Given the description of an element on the screen output the (x, y) to click on. 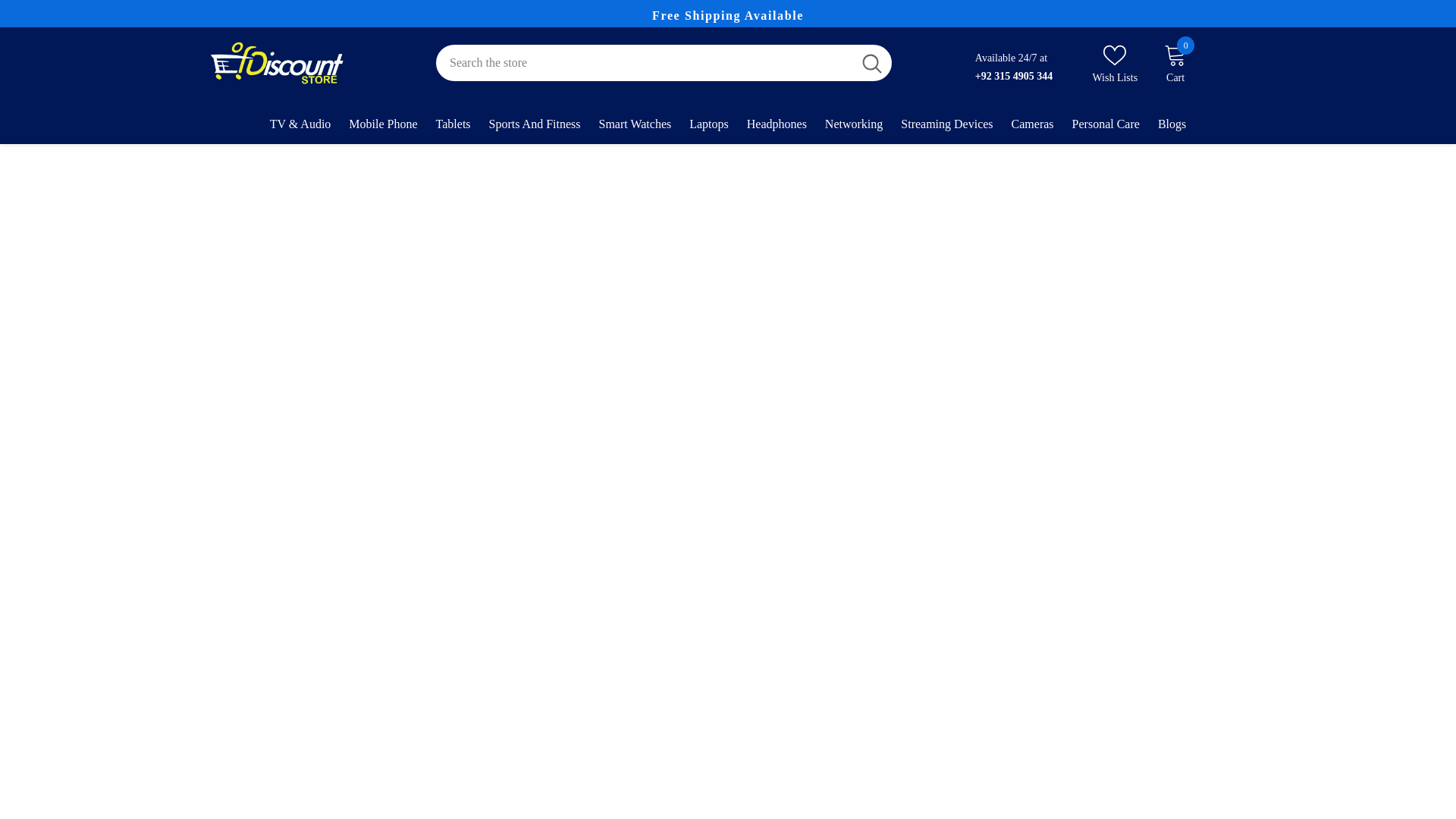
Cameras (1032, 129)
Wish Lists (1114, 62)
Laptops (708, 130)
Sports And Fitness (534, 131)
Free Shipping Available (727, 15)
Streaming Devices (946, 129)
Personal Care (1105, 129)
Blogs (1171, 129)
Smart Watches (634, 130)
Mobile Phone (1174, 62)
Tablets (382, 131)
Headphones (453, 131)
Networking (776, 129)
